Given the description of an element on the screen output the (x, y) to click on. 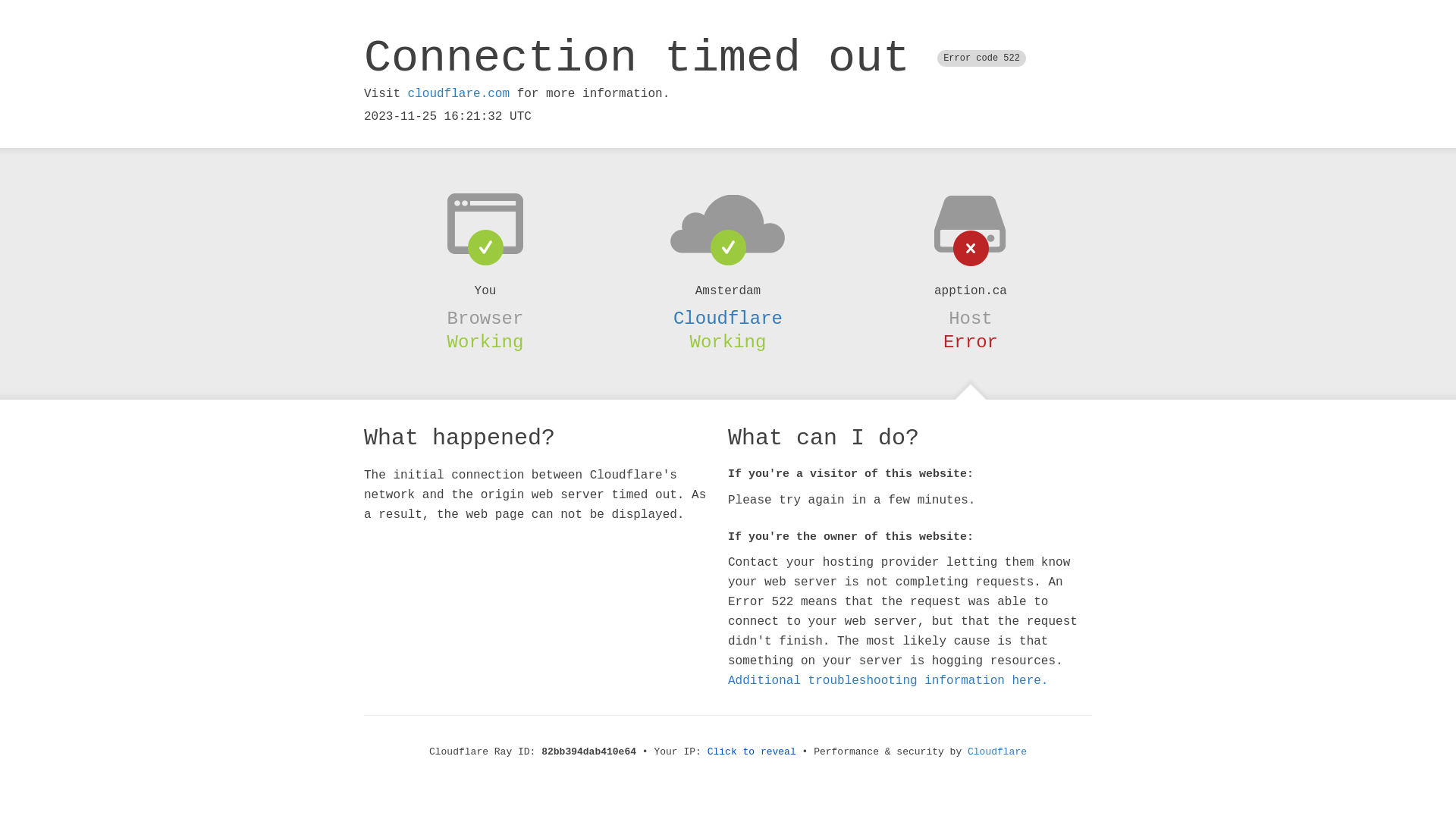
Additional troubleshooting information here. Element type: text (888, 680)
Cloudflare Element type: text (727, 318)
Cloudflare Element type: text (996, 751)
Click to reveal Element type: text (751, 751)
cloudflare.com Element type: text (458, 93)
